Given the description of an element on the screen output the (x, y) to click on. 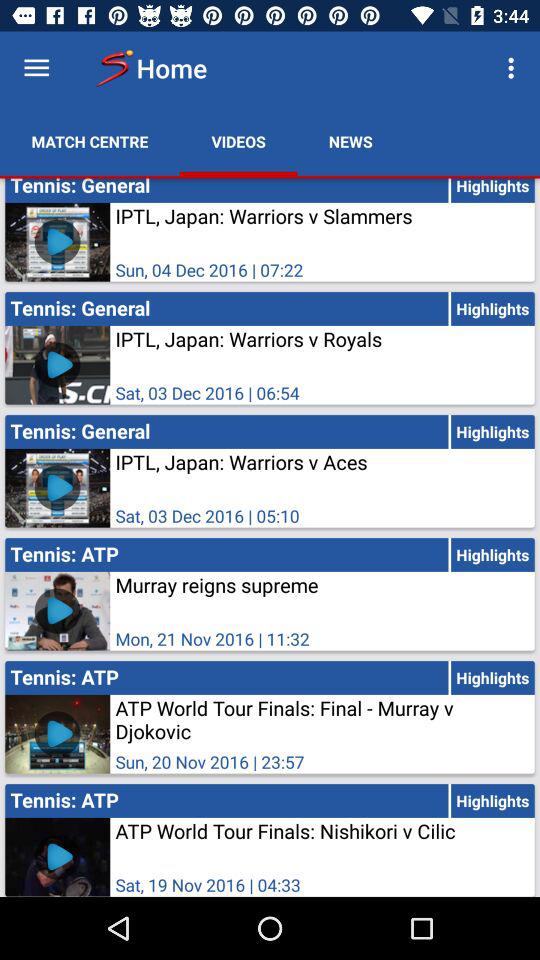
launch the icon above the highlights icon (513, 67)
